Given the description of an element on the screen output the (x, y) to click on. 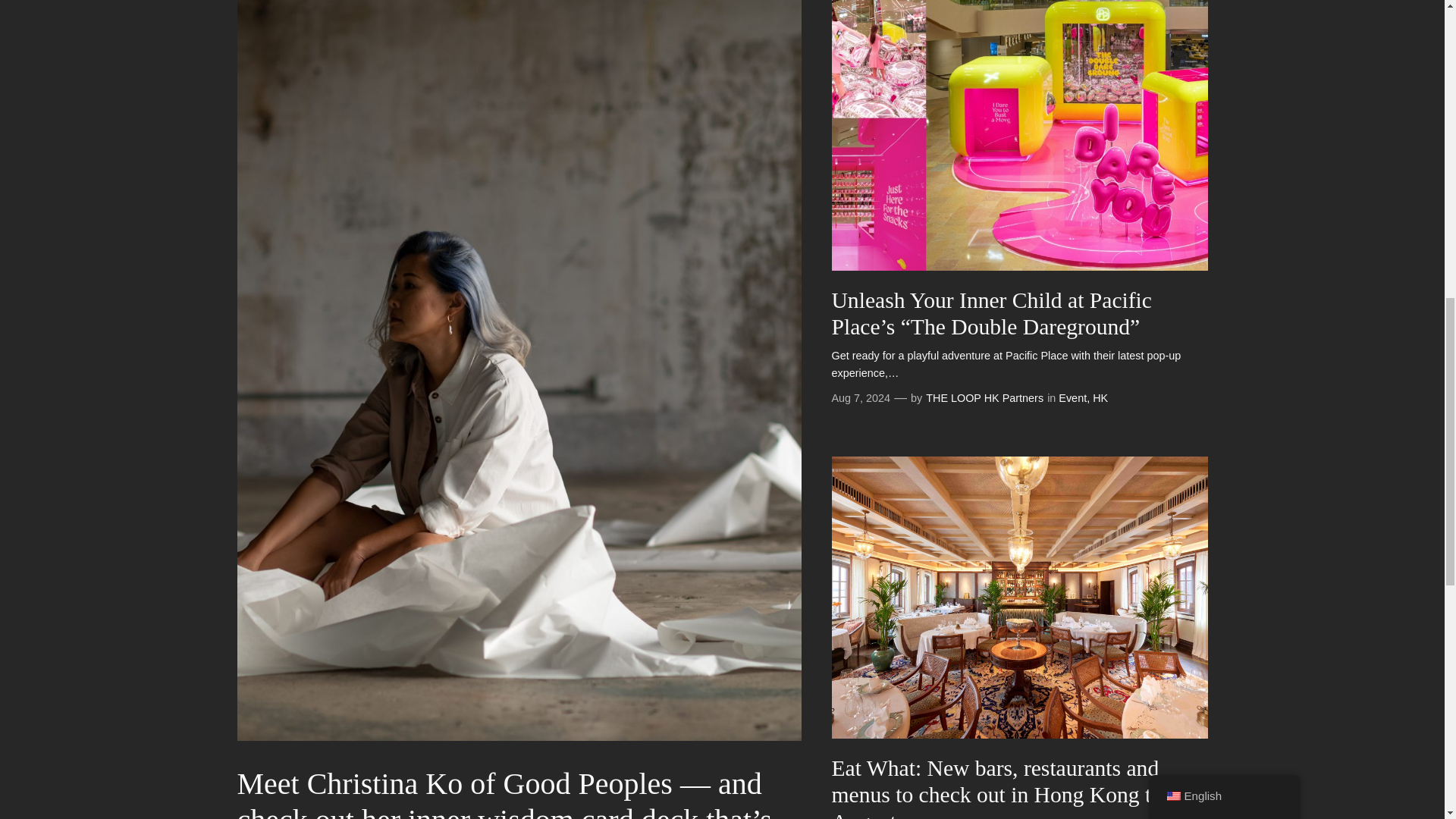
THE LOOP HK Partners (984, 398)
Aug 7, 2024 (860, 398)
Event (1072, 398)
HK (1100, 398)
